Given the description of an element on the screen output the (x, y) to click on. 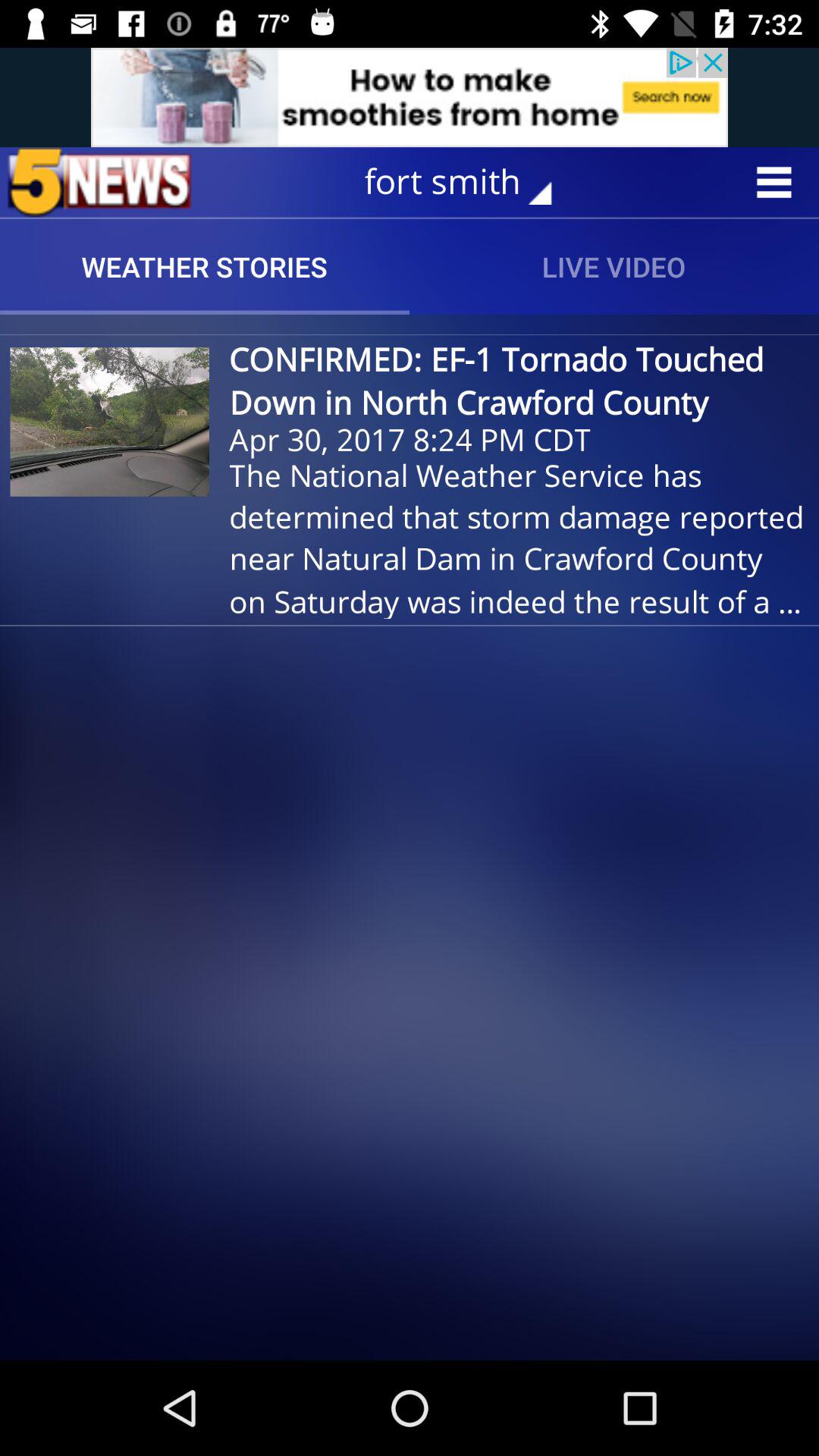
select the 5 news (99, 182)
